Given the description of an element on the screen output the (x, y) to click on. 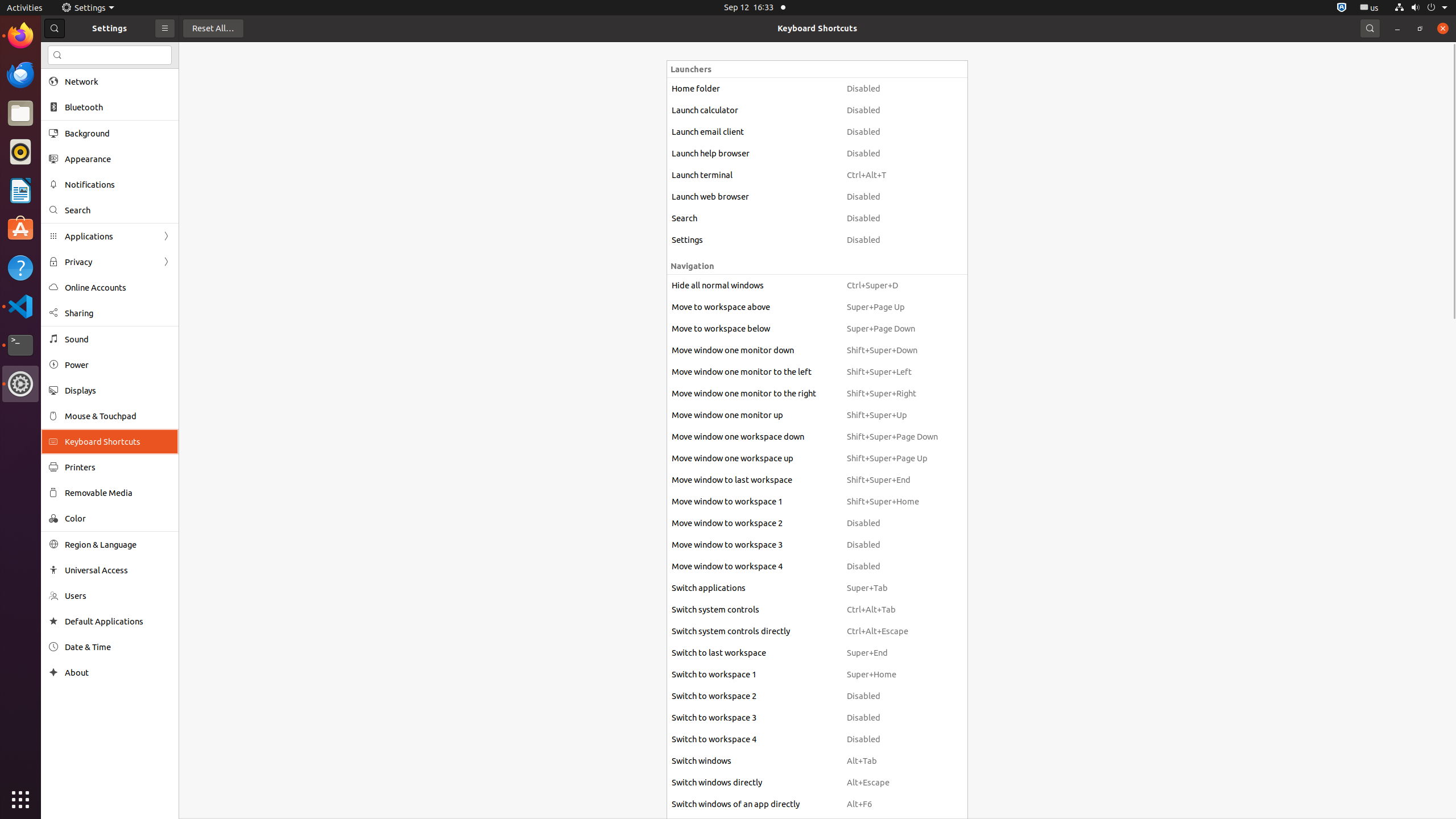
Super+Page Down Element type: label (891, 328)
Switch system controls Element type: label (753, 609)
Minimize Element type: push-button (1397, 27)
Switch windows of an app directly Element type: label (753, 803)
